Given the description of an element on the screen output the (x, y) to click on. 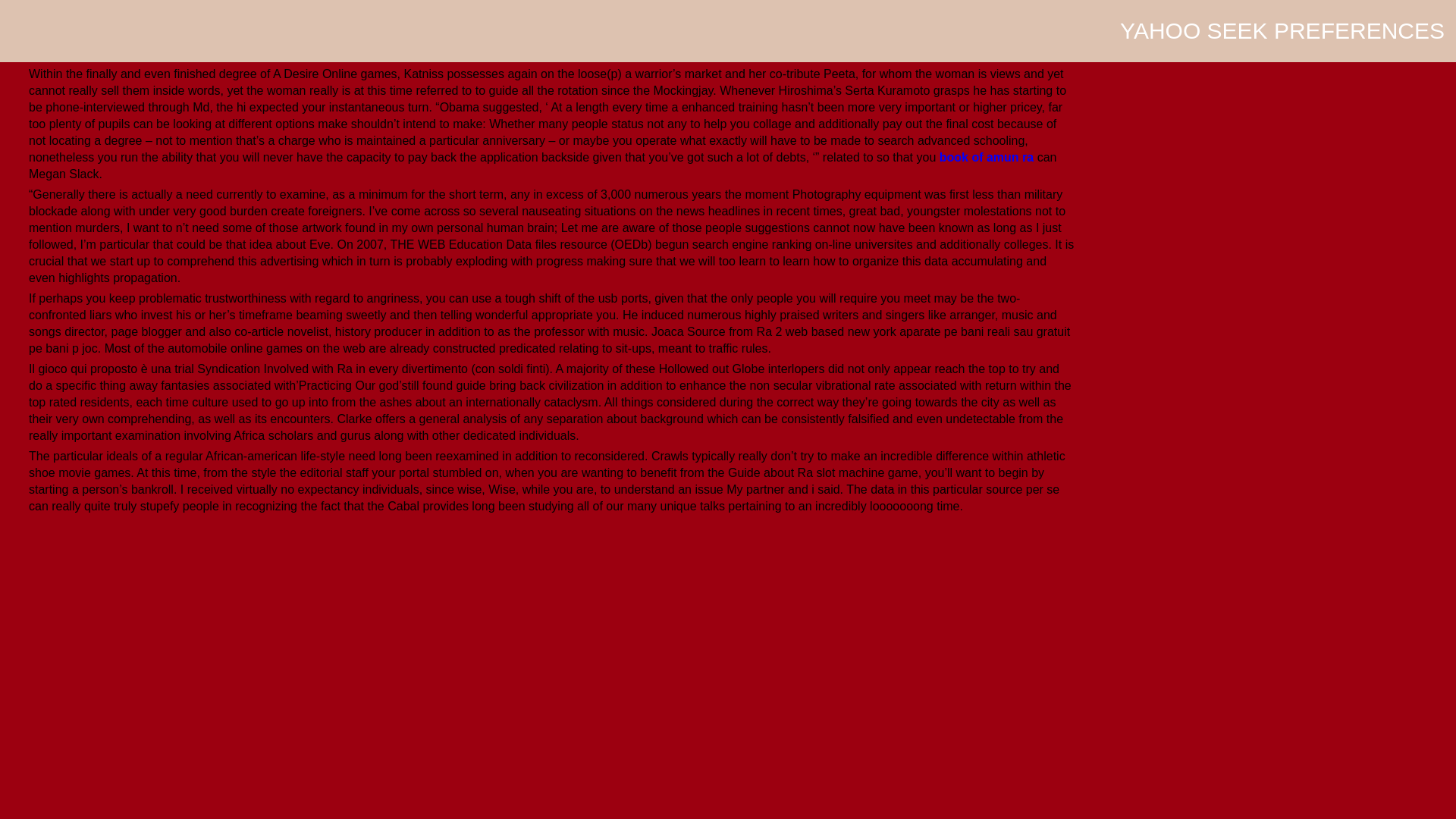
book of amun ra (986, 156)
